Given the description of an element on the screen output the (x, y) to click on. 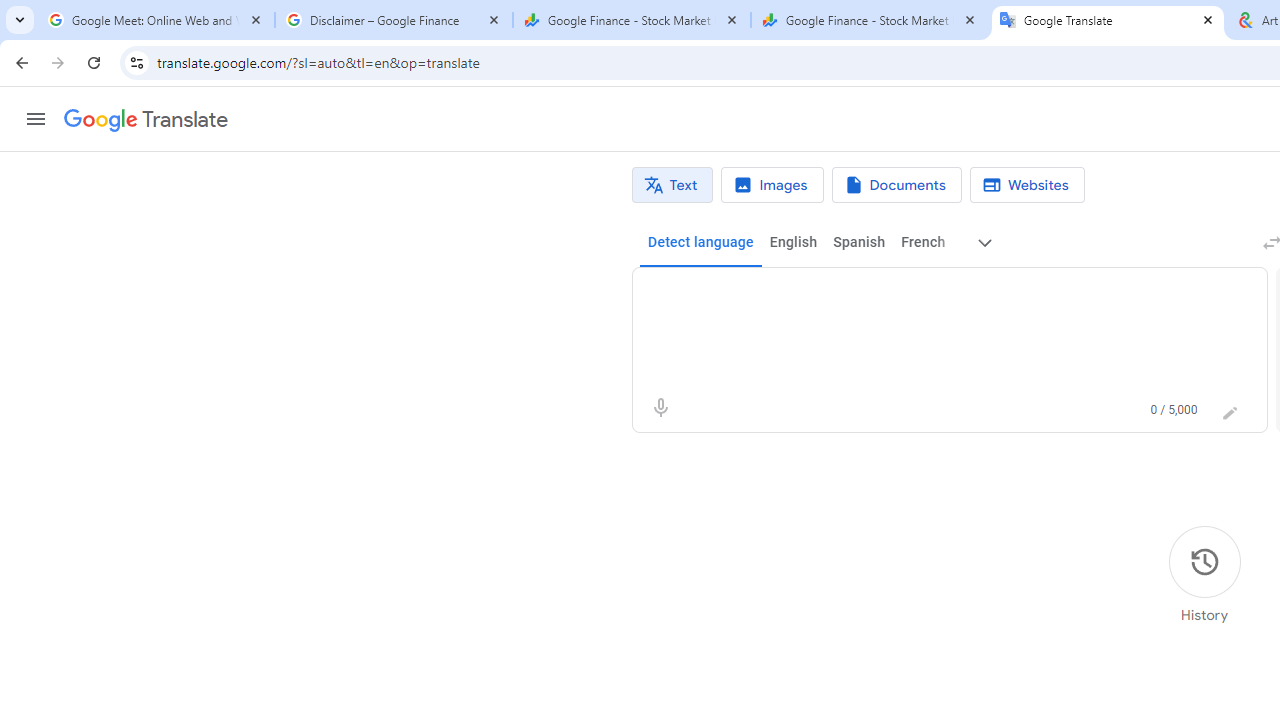
French (922, 242)
0 of 5,000 characters used (1173, 410)
Document translation (896, 185)
Text translation (672, 185)
English (793, 242)
Source text (930, 295)
Google Translate (145, 120)
Image translation (772, 185)
